Given the description of an element on the screen output the (x, y) to click on. 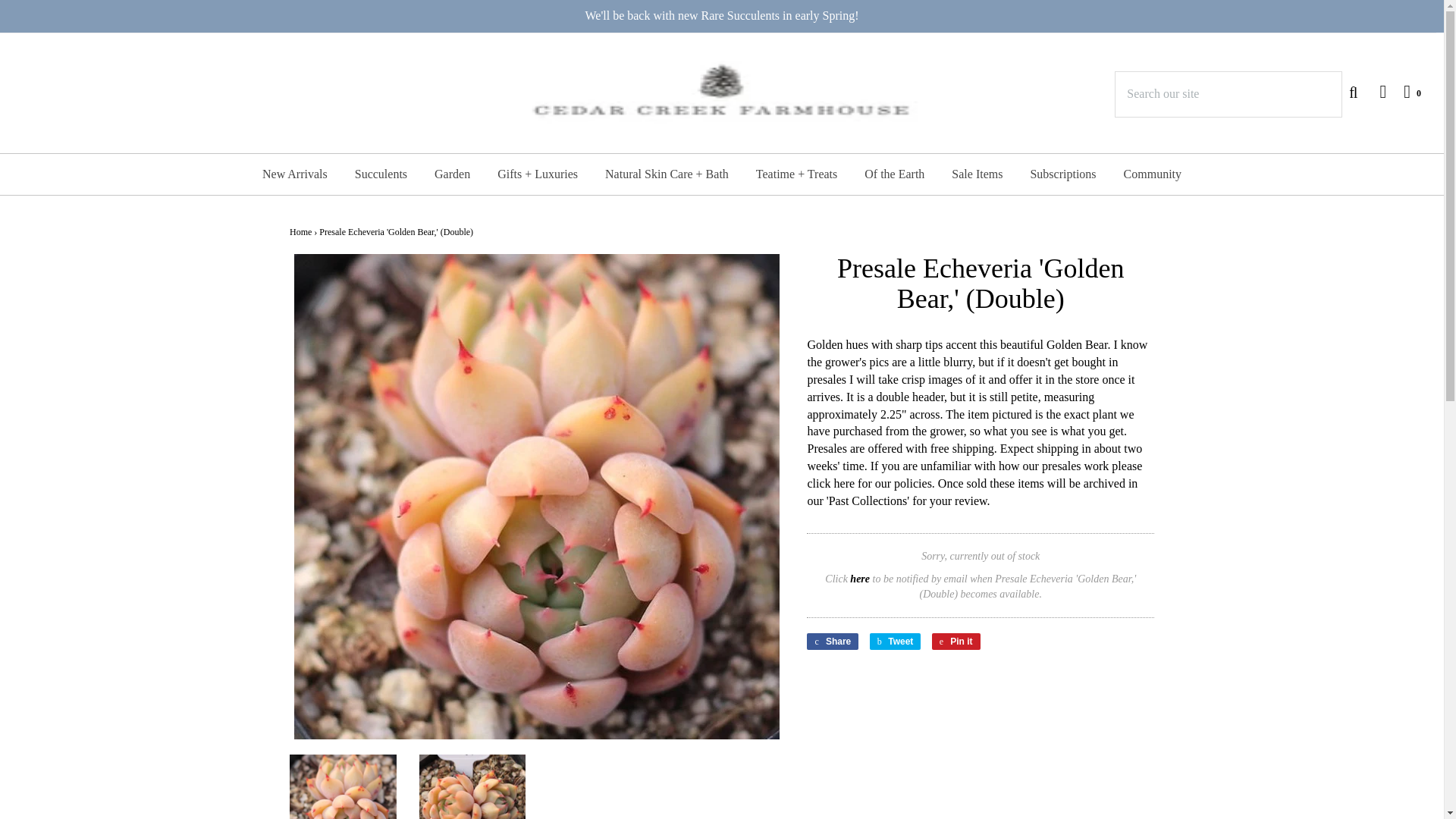
Log in (1375, 91)
Succulents (381, 174)
0 (1405, 91)
Garden (452, 174)
Back to the frontpage (300, 231)
We'll be back with new Rare Succulents in early Spring! (722, 16)
New Arrivals (294, 174)
Your Cart (1405, 91)
Search our site (1228, 94)
